Given the description of an element on the screen output the (x, y) to click on. 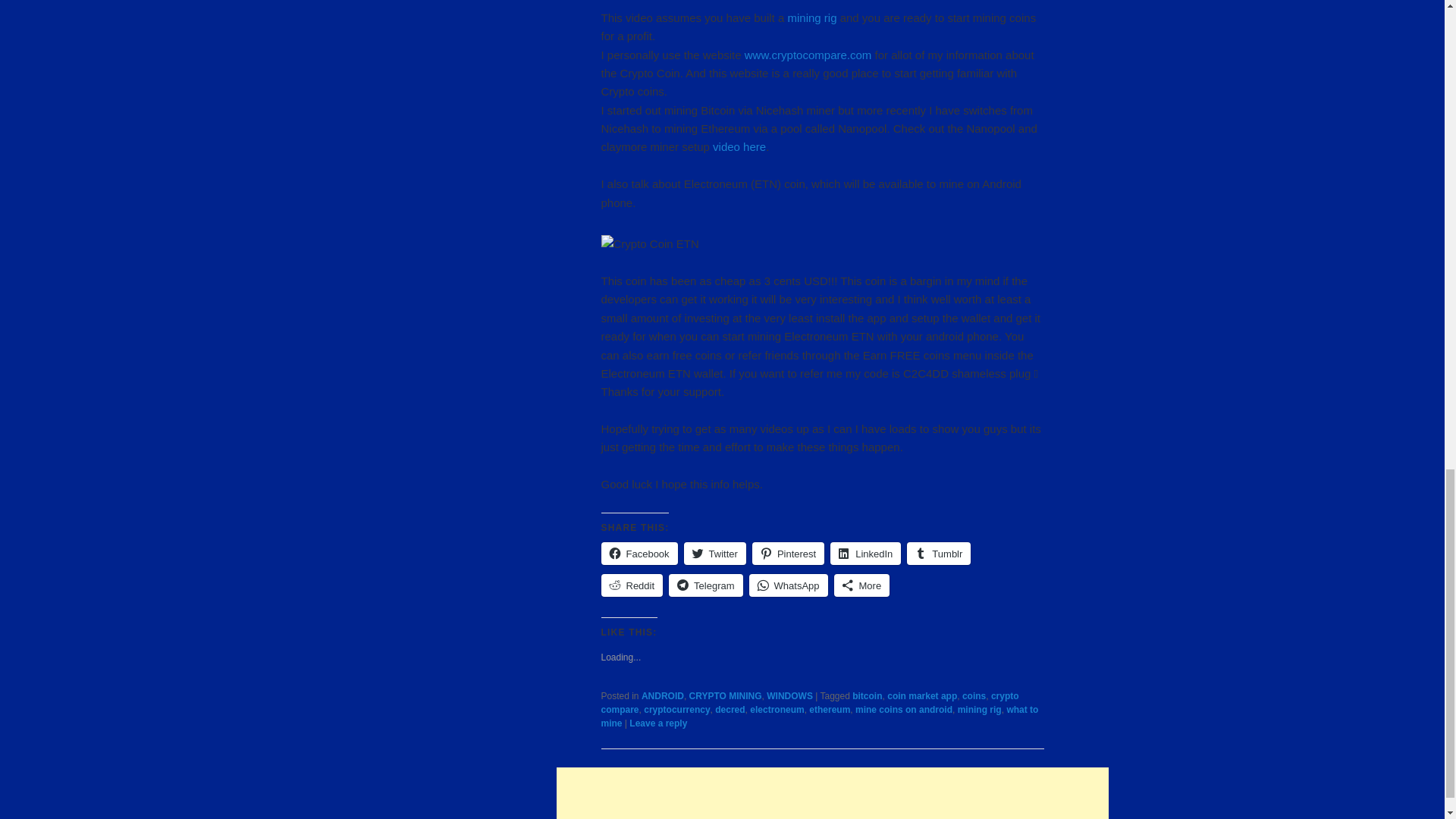
Click to share on Tumblr (939, 553)
Click to share on Telegram (705, 585)
Click to share on Twitter (714, 553)
Click to share on Reddit (630, 585)
Click to share on Pinterest (788, 553)
Click to share on Facebook (638, 553)
Click to share on WhatsApp (788, 585)
Click to share on LinkedIn (865, 553)
